Given the description of an element on the screen output the (x, y) to click on. 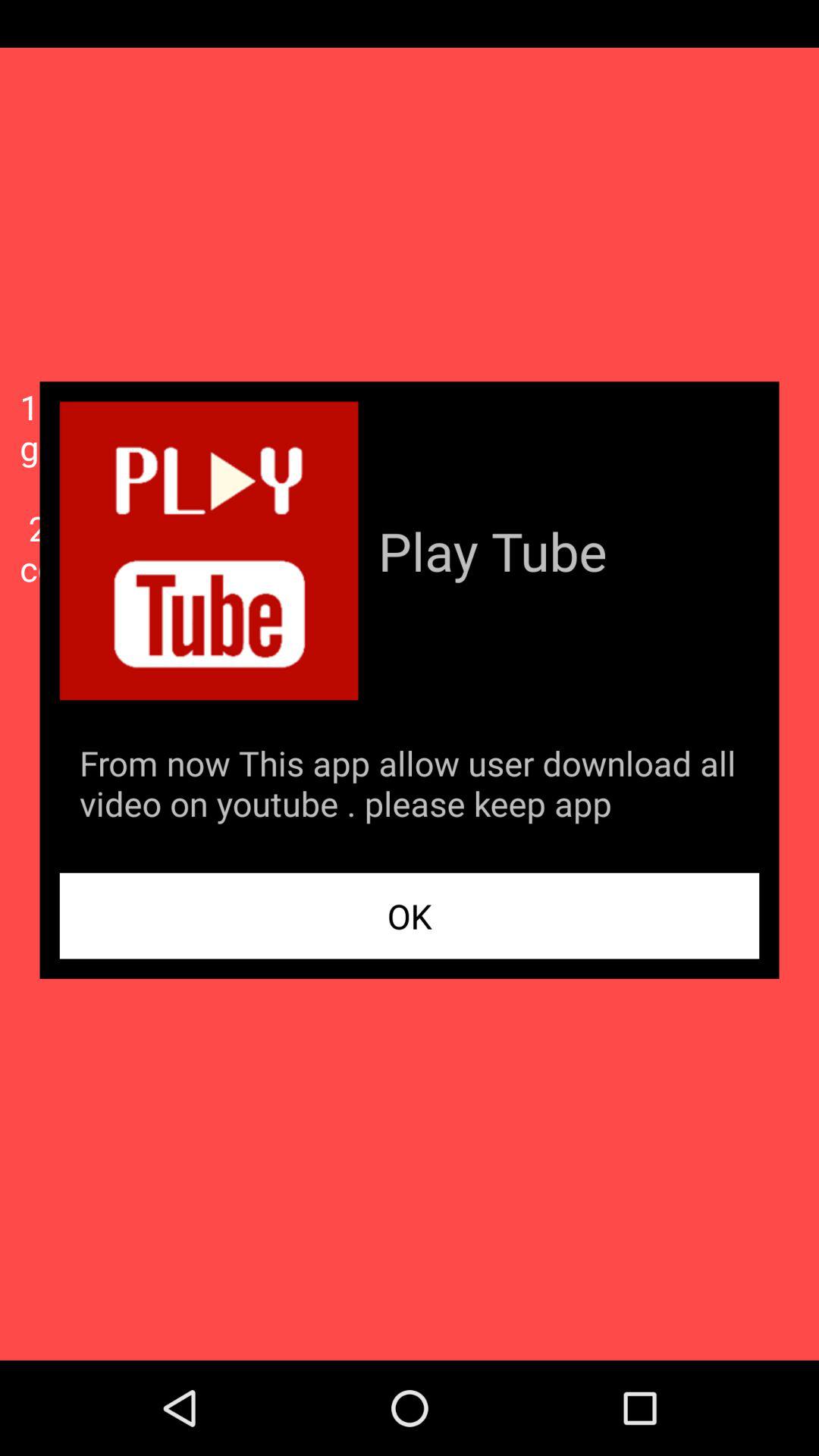
turn off the ok icon (409, 915)
